Given the description of an element on the screen output the (x, y) to click on. 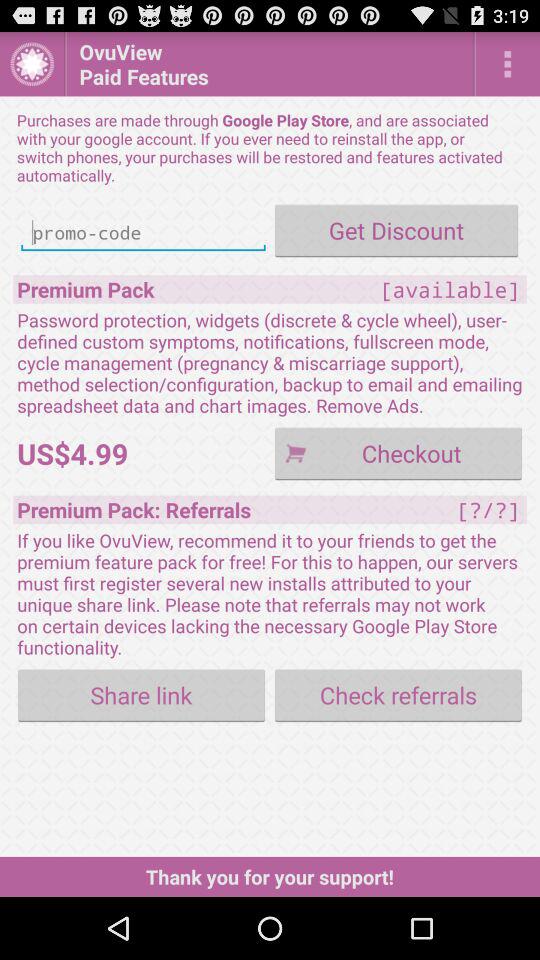
tap icon next to the us$4.99 app (398, 452)
